Given the description of an element on the screen output the (x, y) to click on. 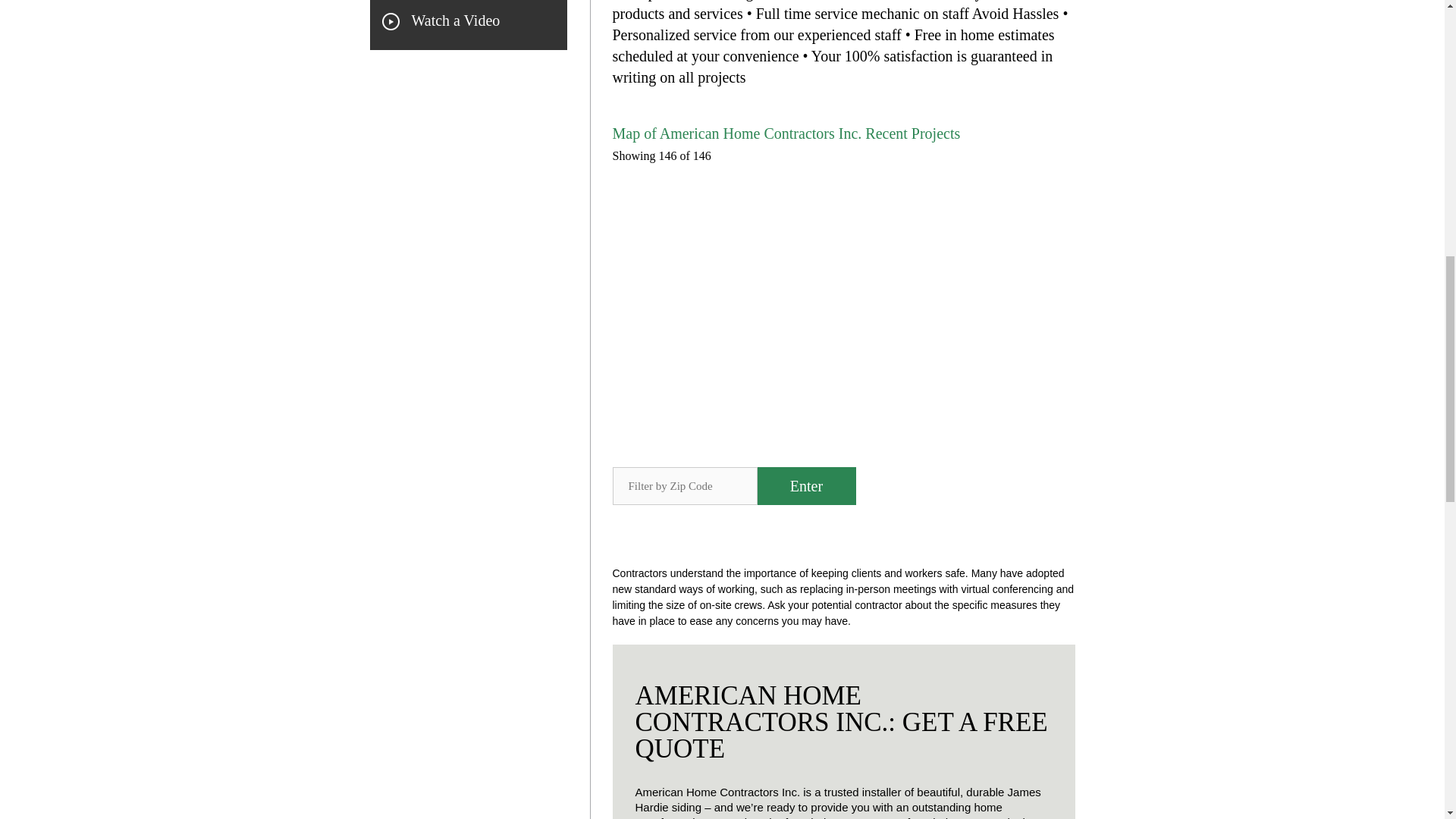
Enter (806, 485)
Enter (806, 485)
Watch a Video (454, 20)
